Given the description of an element on the screen output the (x, y) to click on. 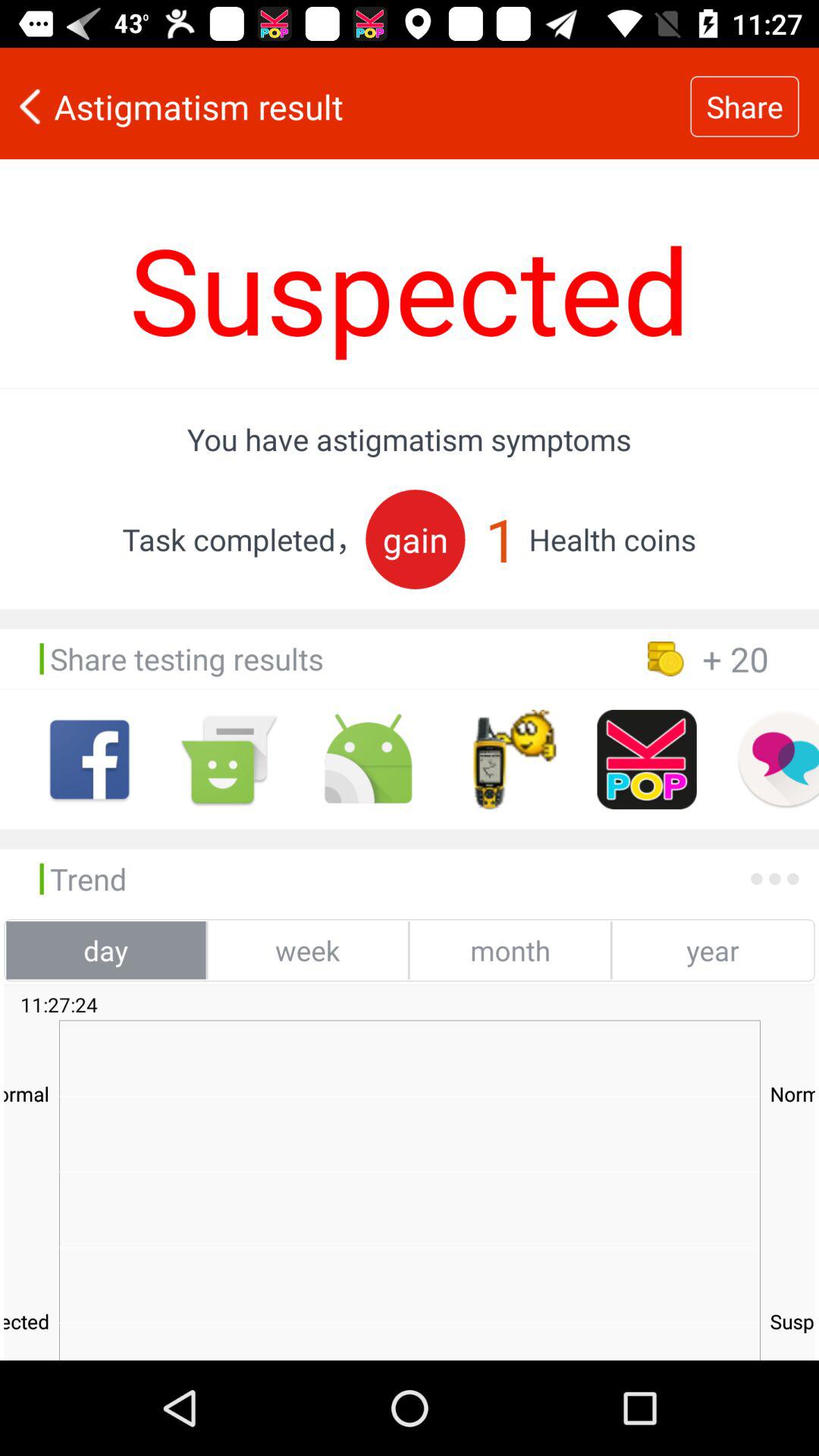
share to app (507, 759)
